Given the description of an element on the screen output the (x, y) to click on. 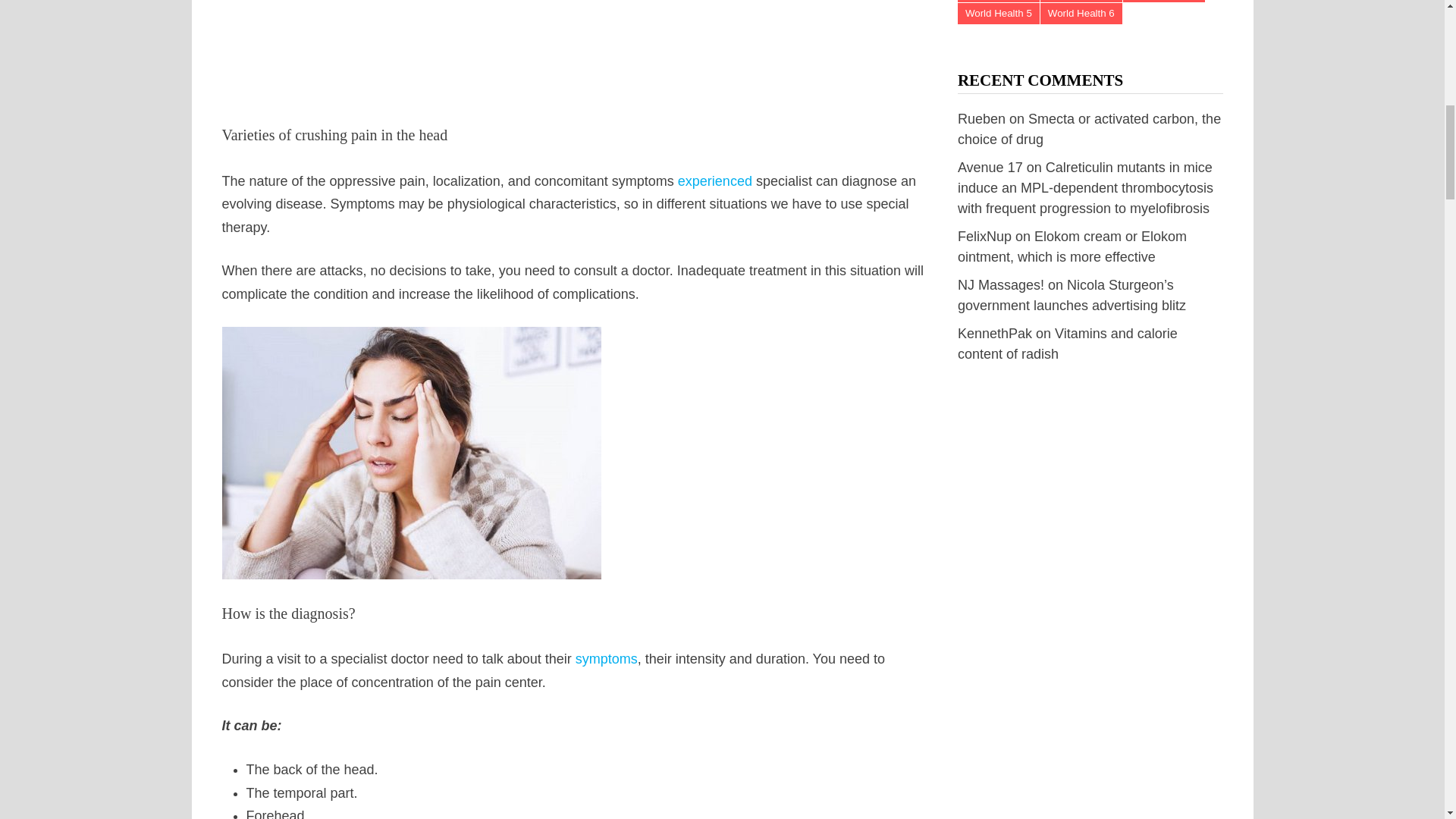
Advertisement (574, 46)
symptoms (606, 658)
experienced (715, 181)
